Given the description of an element on the screen output the (x, y) to click on. 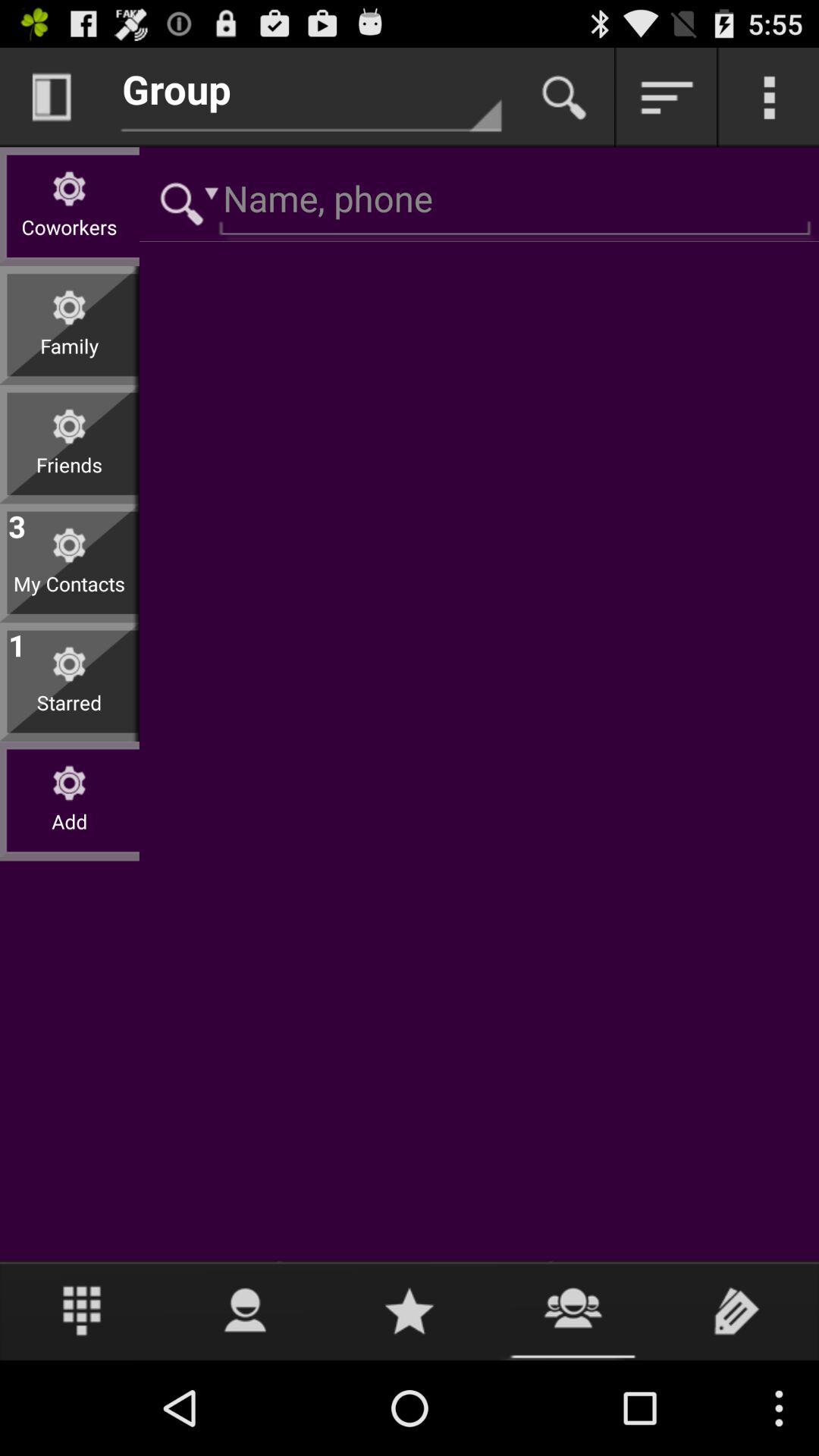
launch my contacts item (69, 595)
